Given the description of an element on the screen output the (x, y) to click on. 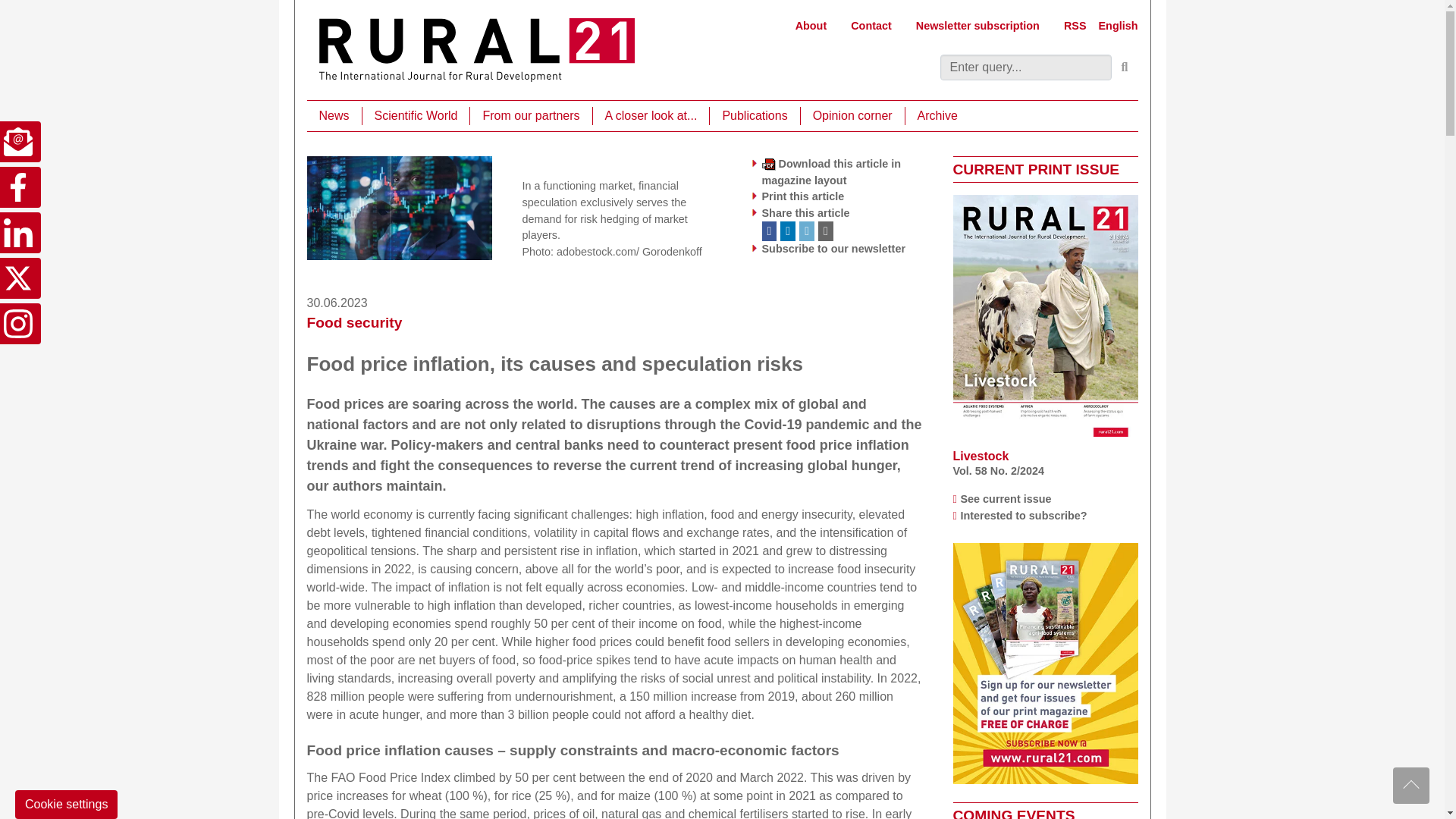
Newsletter subscription (977, 26)
Contact (871, 26)
A closer look at... (651, 116)
From our partners (530, 116)
Scientific World (416, 116)
A closer look at... (651, 116)
RSS (1075, 26)
About (811, 26)
From our partners (530, 116)
Contact (871, 26)
